Given the description of an element on the screen output the (x, y) to click on. 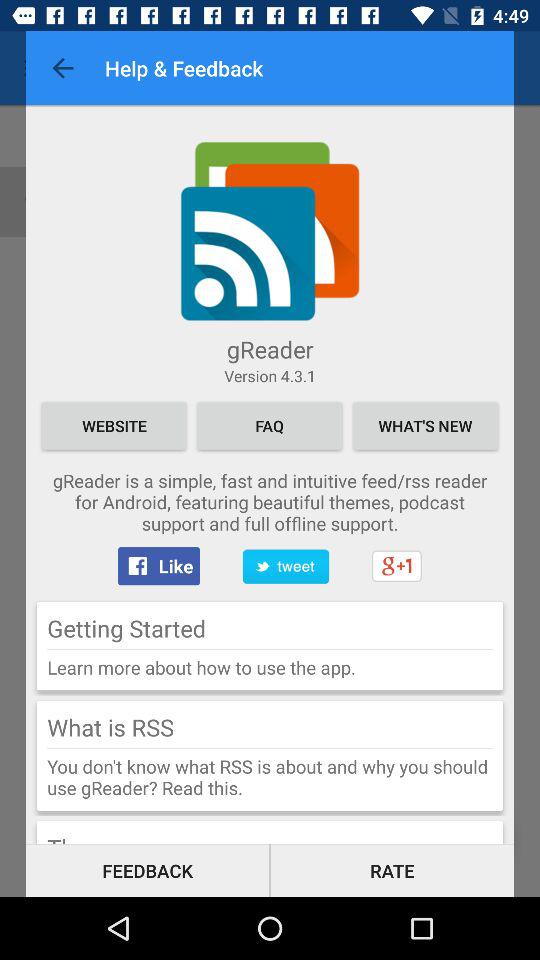
swipe to you don t (269, 777)
